Given the description of an element on the screen output the (x, y) to click on. 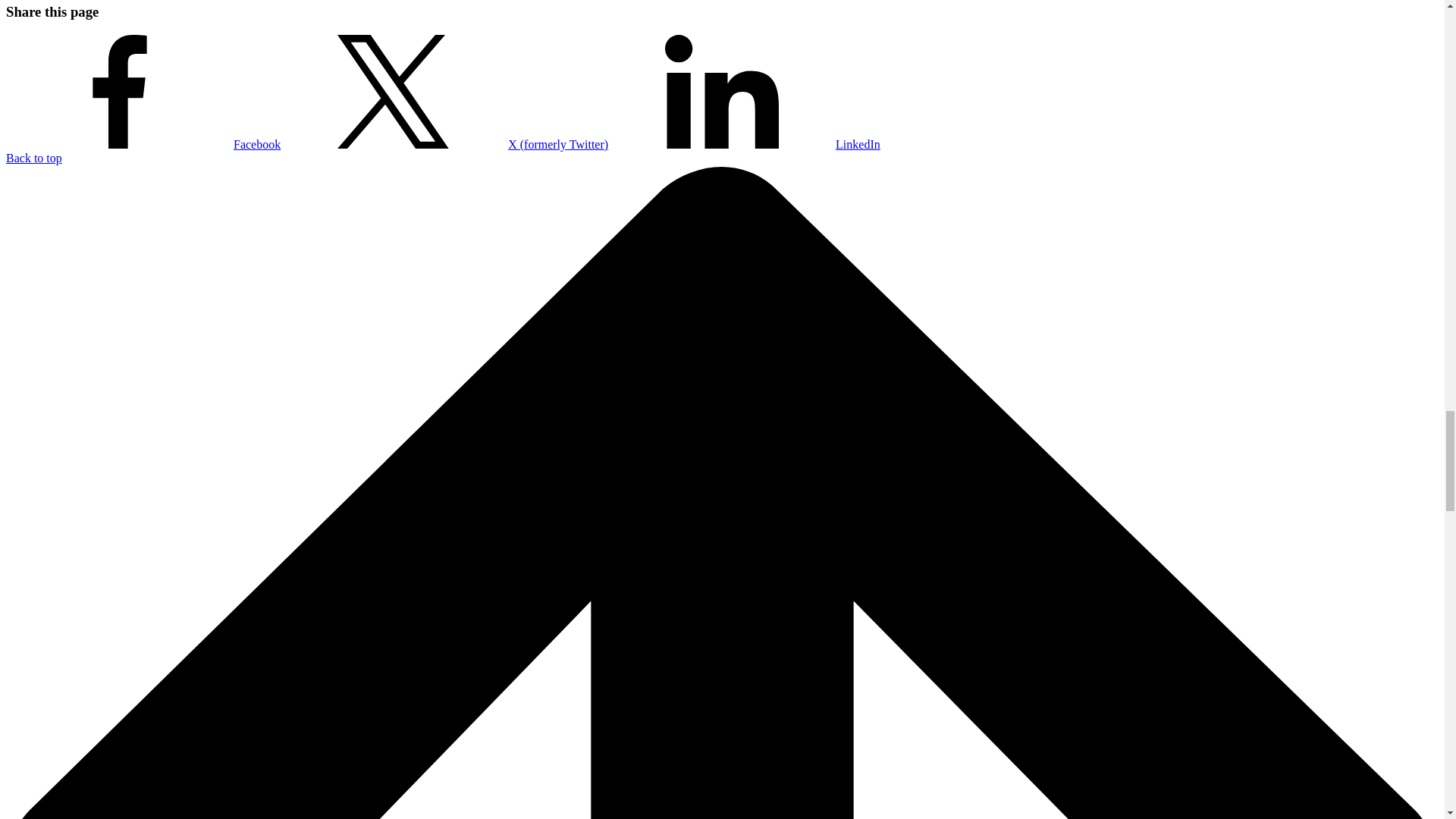
Facebook (143, 144)
LinkedIn (744, 144)
